Given the description of an element on the screen output the (x, y) to click on. 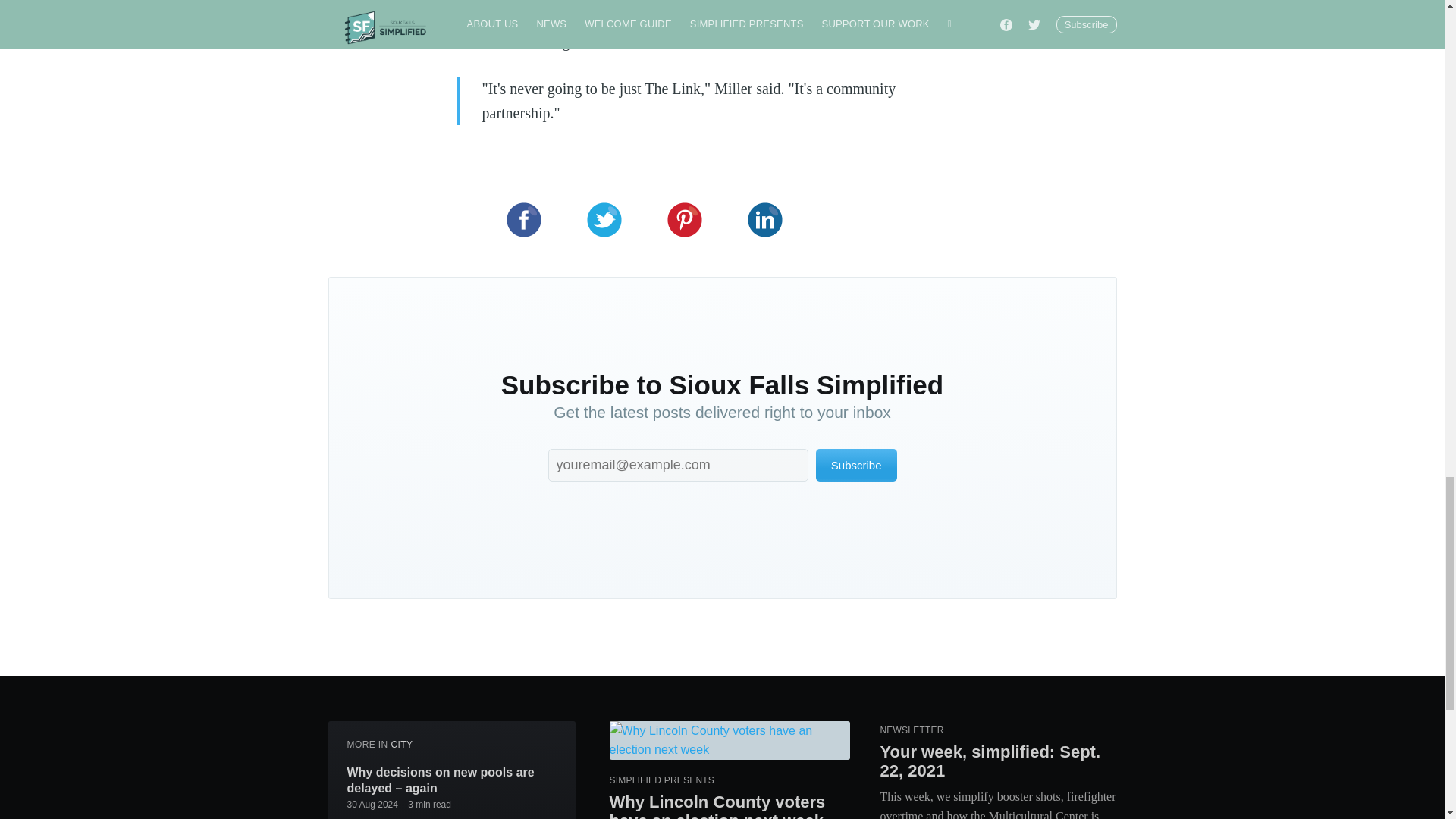
CITY (401, 744)
Subscribe (855, 464)
